Given the description of an element on the screen output the (x, y) to click on. 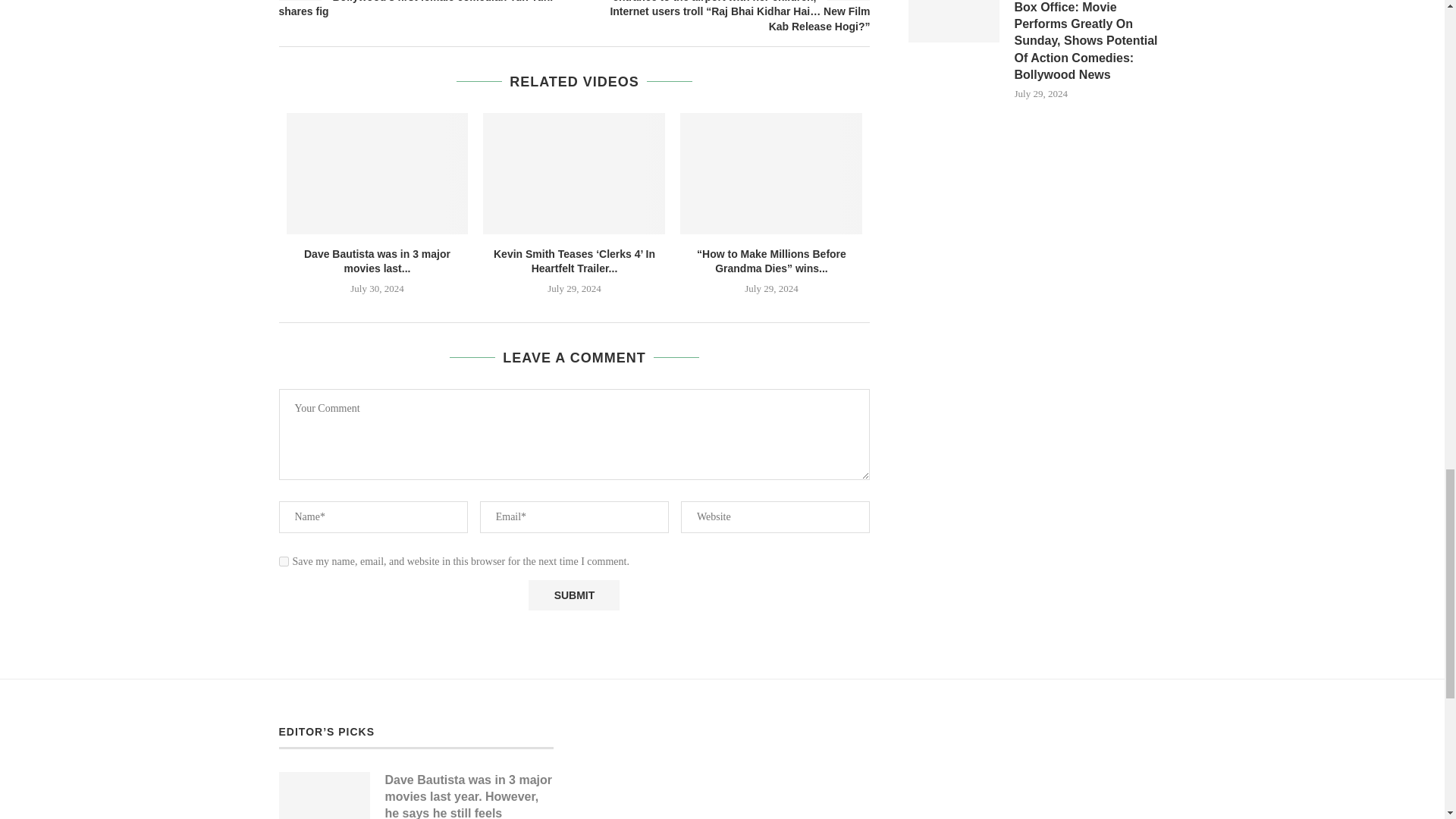
Submit (574, 594)
Dave Bautista was in 3 major movies last... (376, 261)
yes (283, 561)
